Given the description of an element on the screen output the (x, y) to click on. 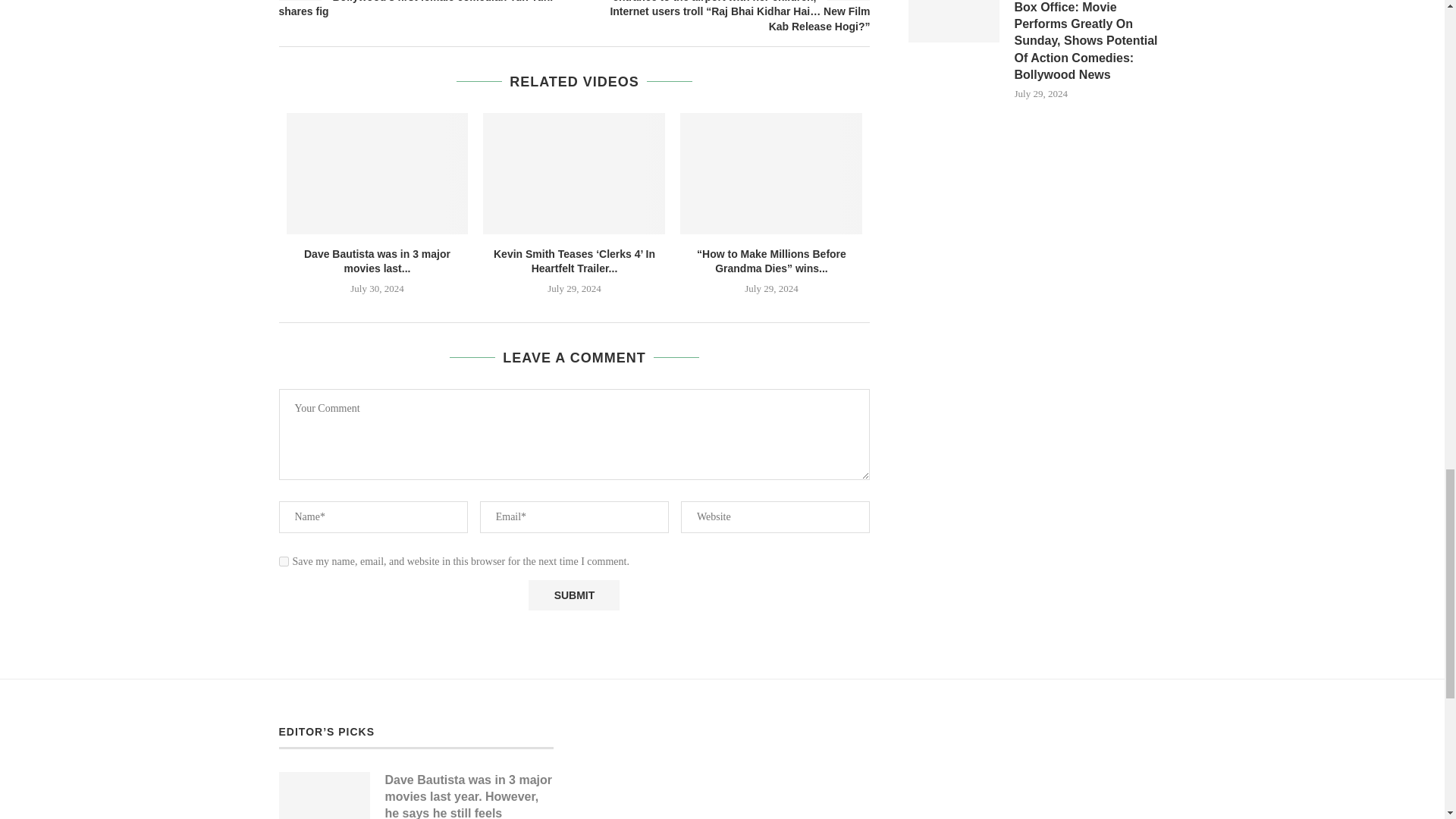
Submit (574, 594)
Dave Bautista was in 3 major movies last... (376, 261)
yes (283, 561)
